Given the description of an element on the screen output the (x, y) to click on. 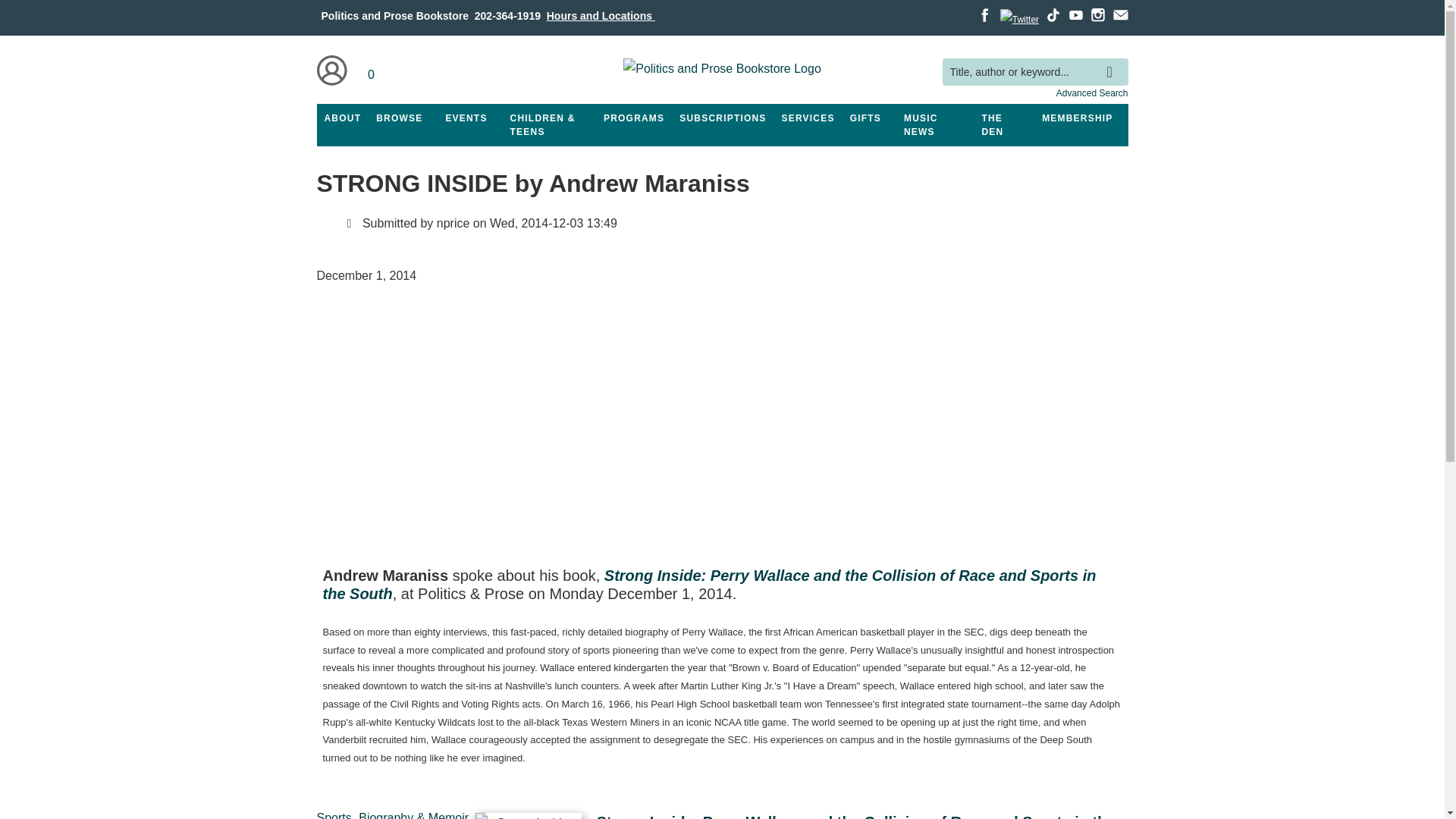
search (1112, 60)
PROGRAMS (633, 118)
See our store ours and locations (601, 15)
search (1112, 60)
Title, author or keyword... (1034, 72)
SERVICES (808, 118)
EVENTS (465, 118)
Children and Teens Department (548, 125)
ABOUT (343, 118)
Home (722, 71)
See information about our programs (633, 118)
Advanced Search (1092, 92)
See our event calendar (465, 118)
Browse our shelves (398, 118)
